Given the description of an element on the screen output the (x, y) to click on. 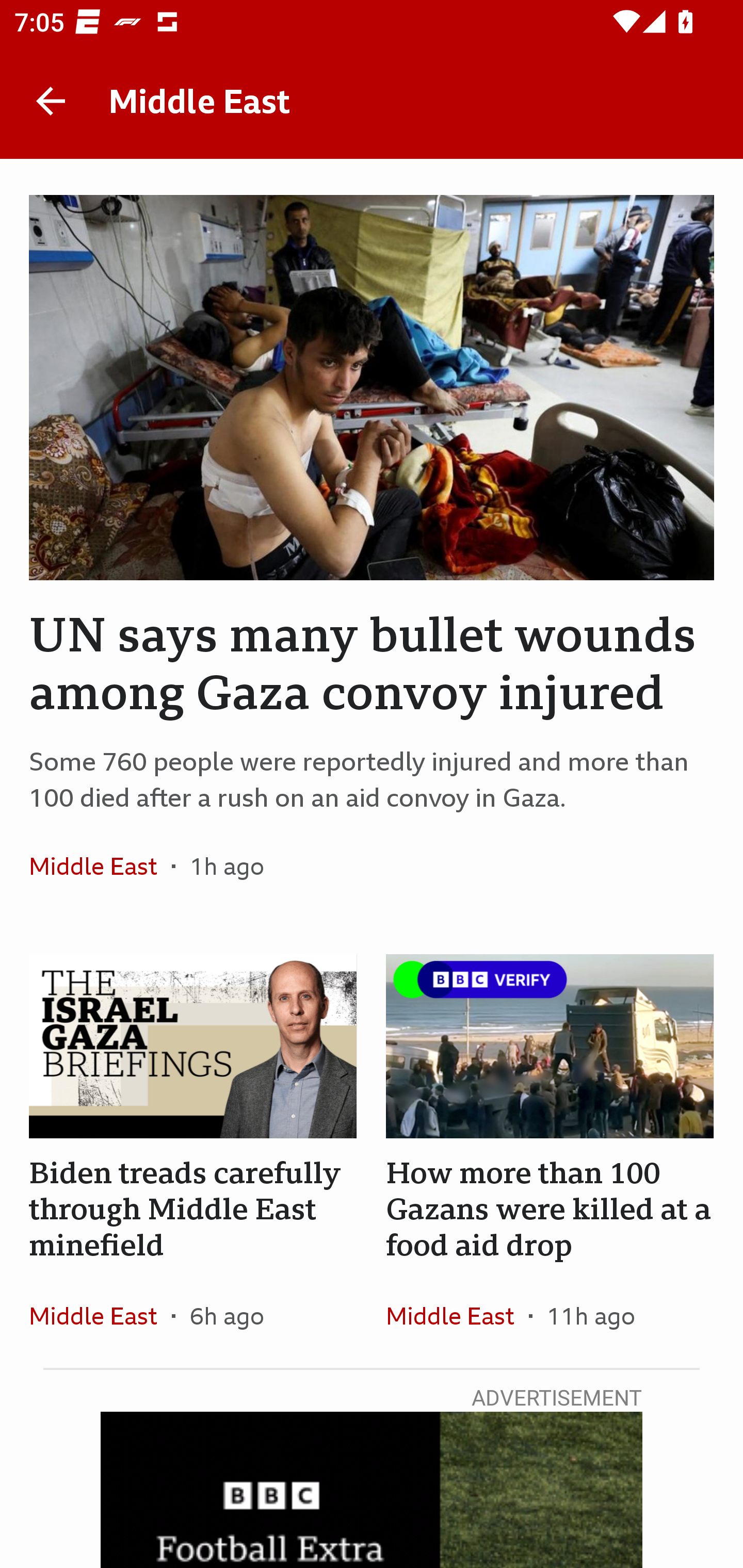
Back (50, 101)
Middle East In the section Middle East (99, 865)
Middle East In the section Middle East (99, 1315)
Middle East In the section Middle East (457, 1315)
